Given the description of an element on the screen output the (x, y) to click on. 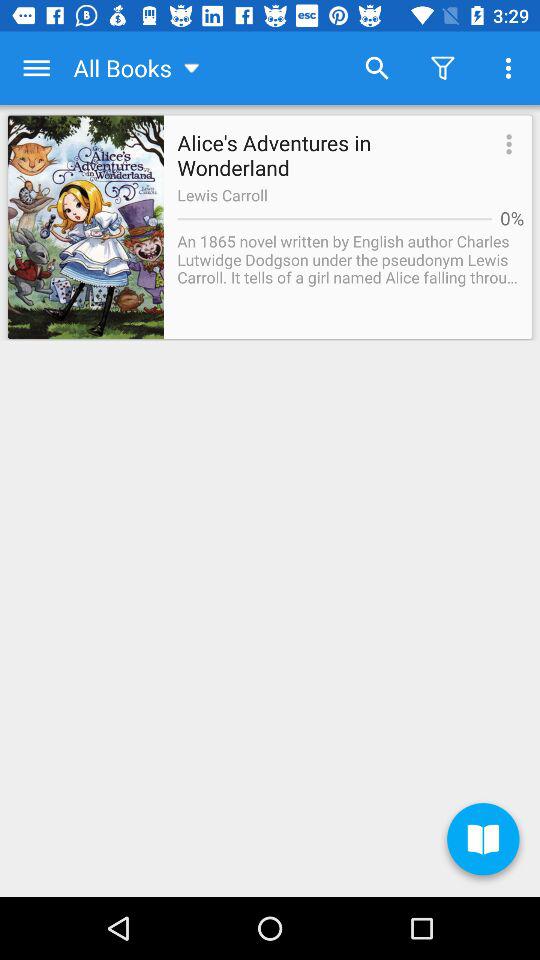
turn off the item next to alice s adventures icon (505, 146)
